Given the description of an element on the screen output the (x, y) to click on. 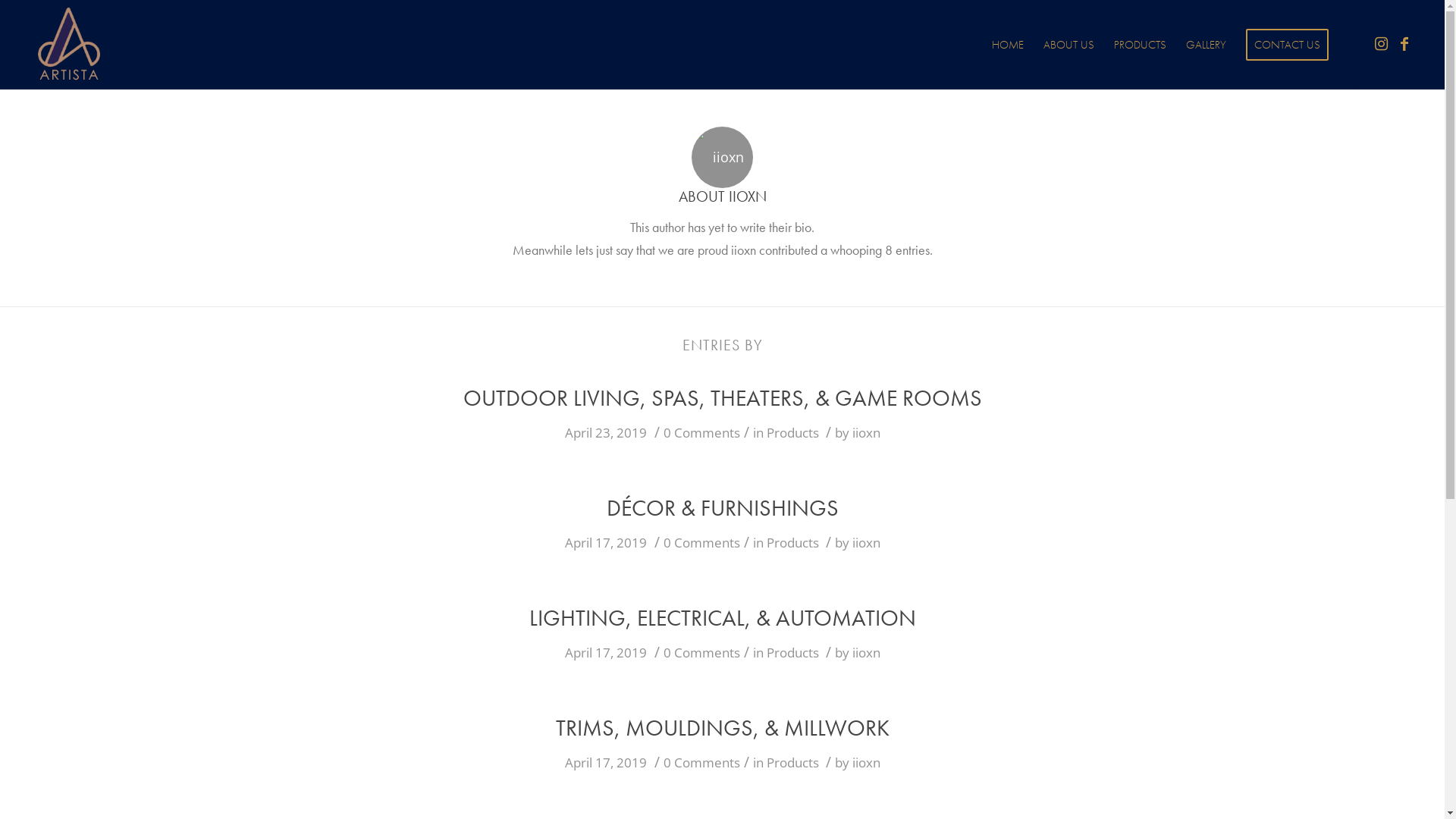
0 Comments Element type: text (700, 542)
Products Element type: text (791, 652)
iioxn Element type: text (866, 762)
PRODUCTS Element type: text (1140, 44)
LIGHTING, ELECTRICAL, & AUTOMATION Element type: text (722, 617)
iioxn Element type: text (866, 542)
Products Element type: text (791, 542)
GALLERY Element type: text (1206, 44)
Instagram Element type: hover (1381, 43)
iioxn Element type: text (866, 652)
0 Comments Element type: text (700, 652)
0 Comments Element type: text (700, 432)
TRIMS, MOULDINGS, & MILLWORK Element type: text (721, 727)
Facebook Element type: hover (1404, 43)
OUTDOOR LIVING, SPAS, THEATERS, & GAME ROOMS Element type: text (721, 397)
CONTACT US Element type: text (1287, 44)
Products Element type: text (791, 762)
HOME Element type: text (1007, 44)
Products Element type: text (791, 432)
ABOUT US Element type: text (1068, 44)
iioxn Element type: text (866, 432)
0 Comments Element type: text (700, 762)
